Given the description of an element on the screen output the (x, y) to click on. 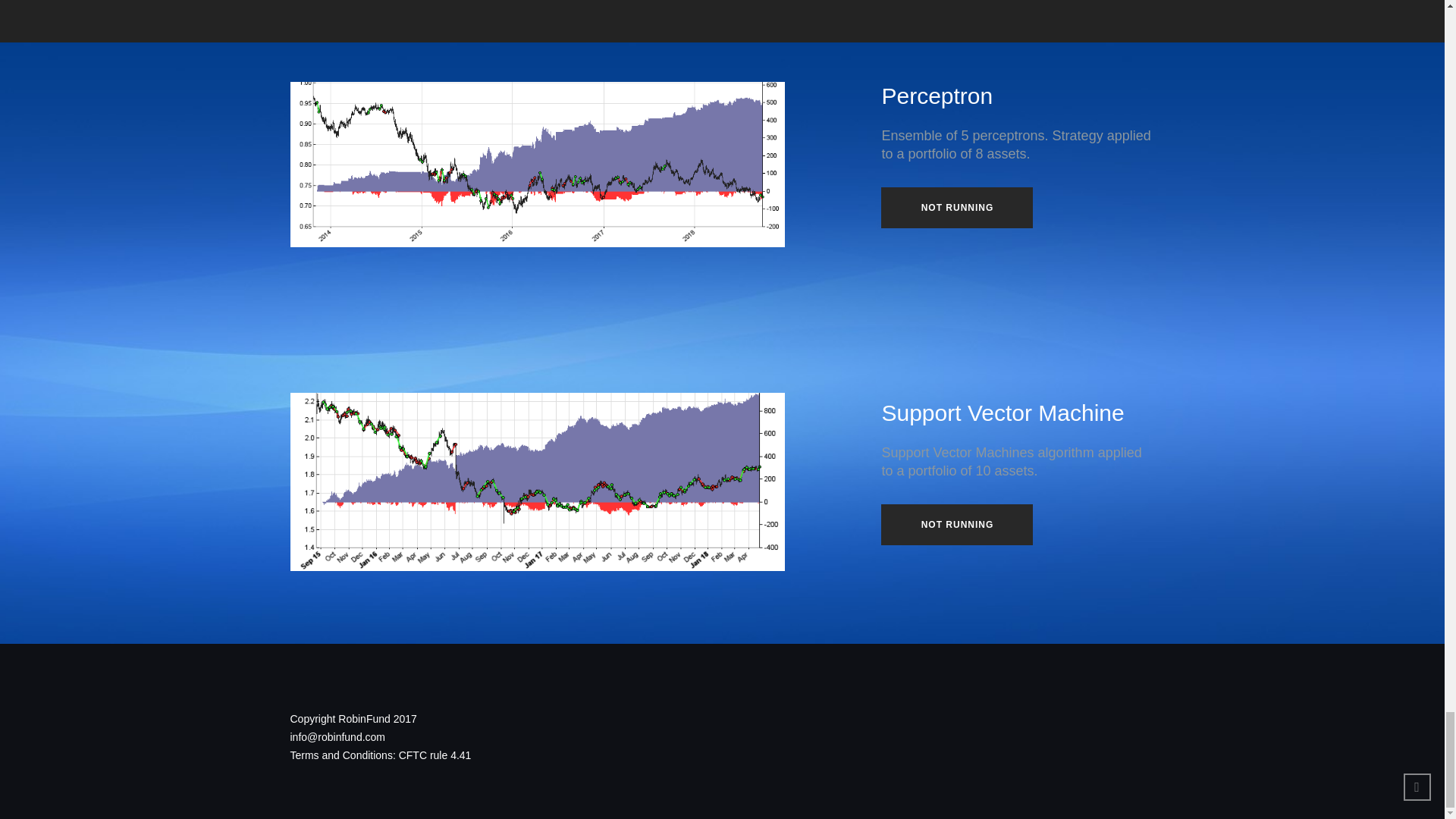
NOT RUNNING (956, 524)
NOT RUNNING (956, 207)
